Given the description of an element on the screen output the (x, y) to click on. 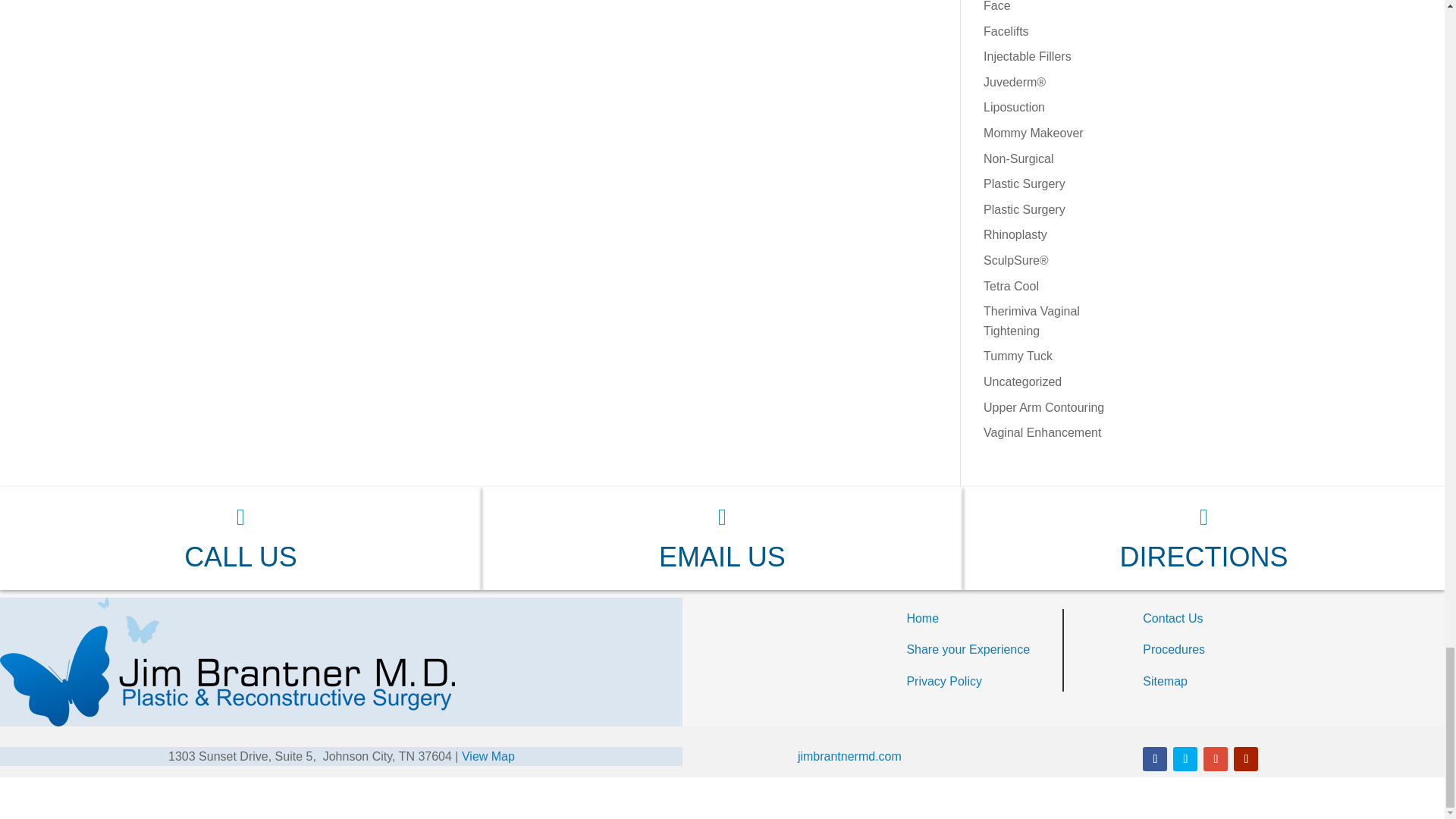
Follow on Youtube (1245, 758)
Follow on Twitter (1184, 758)
Follow on Facebook (1154, 758)
